Given the description of an element on the screen output the (x, y) to click on. 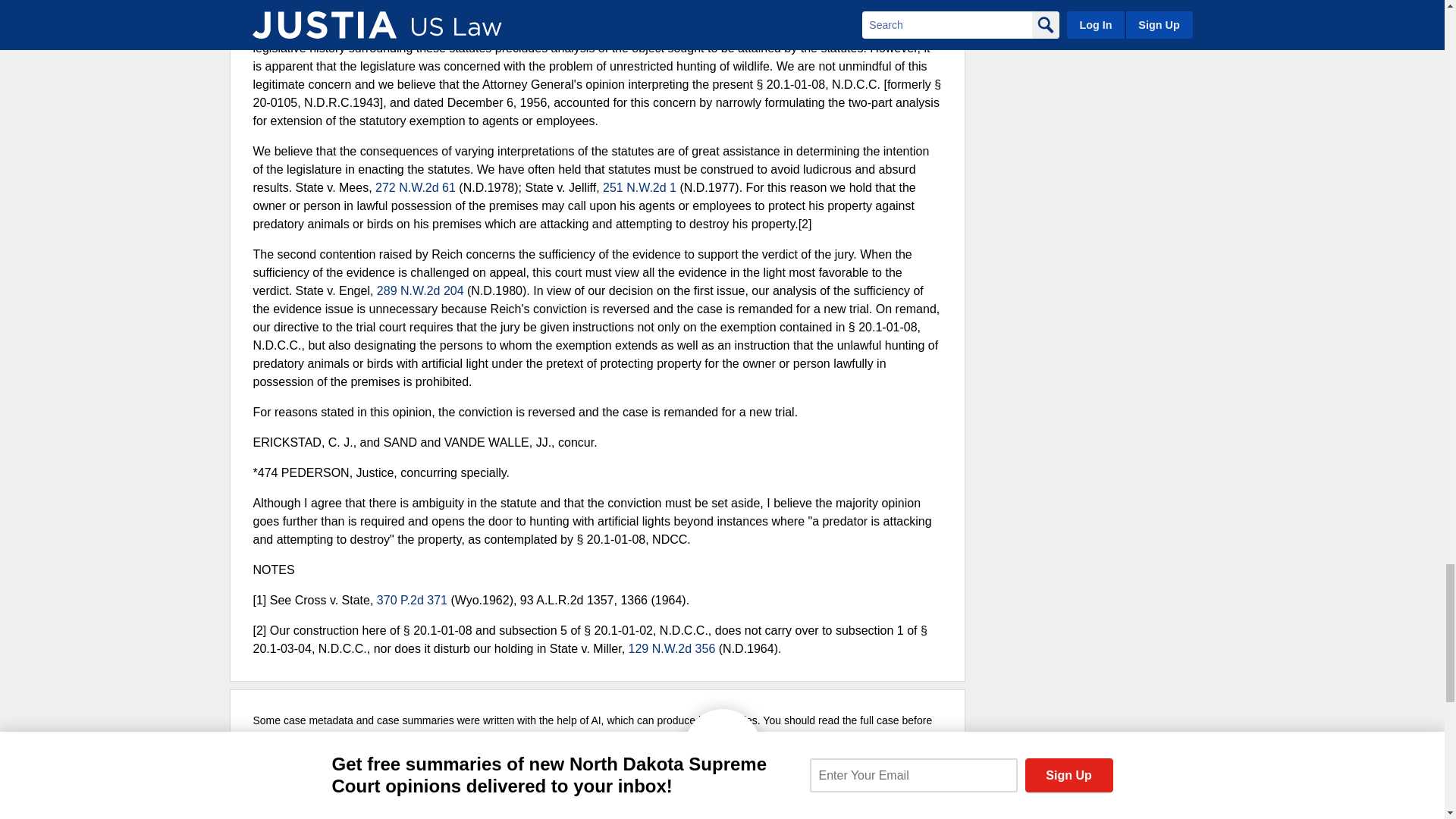
272 N.W.2d 61 (415, 187)
